Given the description of an element on the screen output the (x, y) to click on. 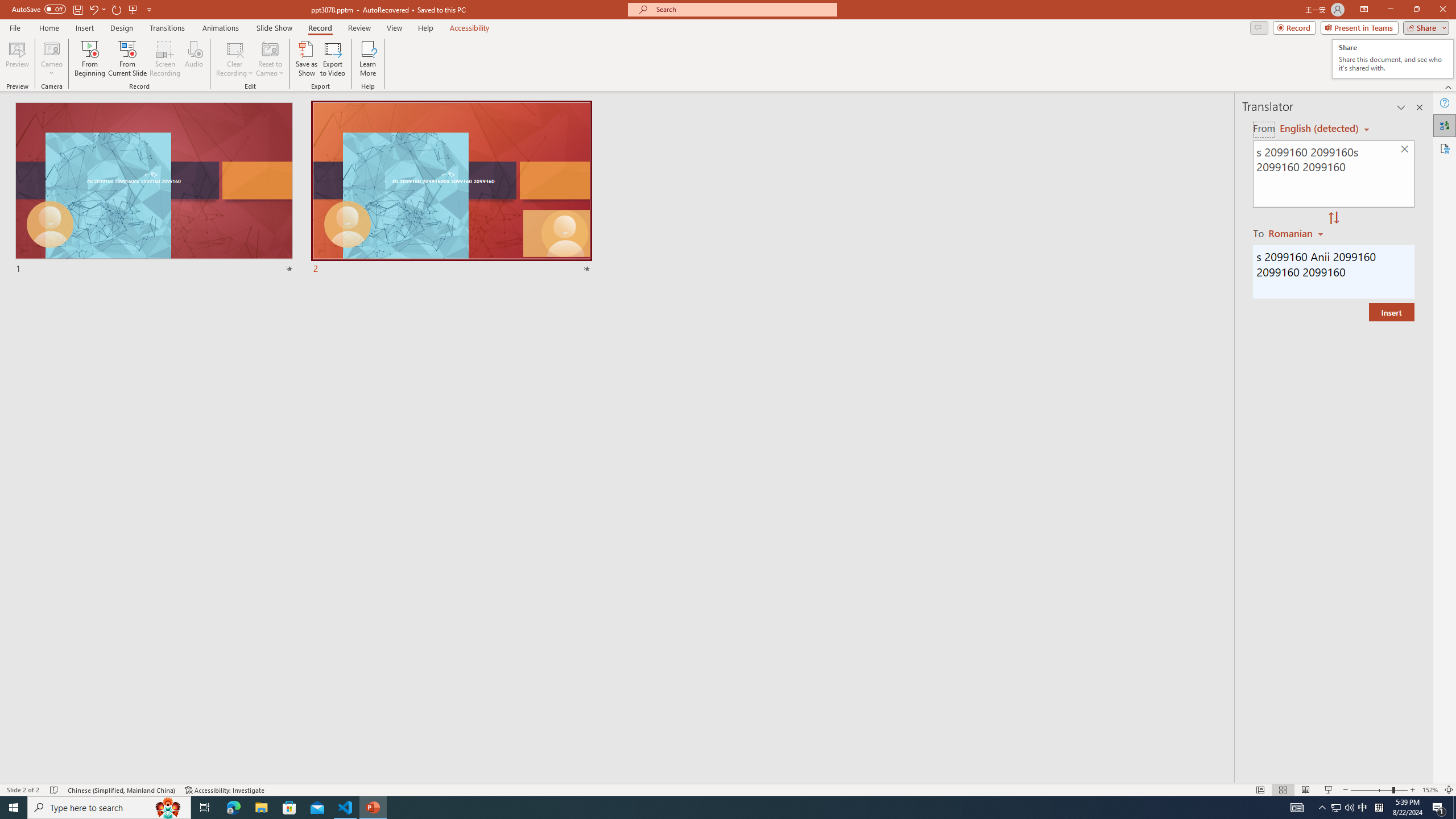
Clear text (1392, 58)
